Given the description of an element on the screen output the (x, y) to click on. 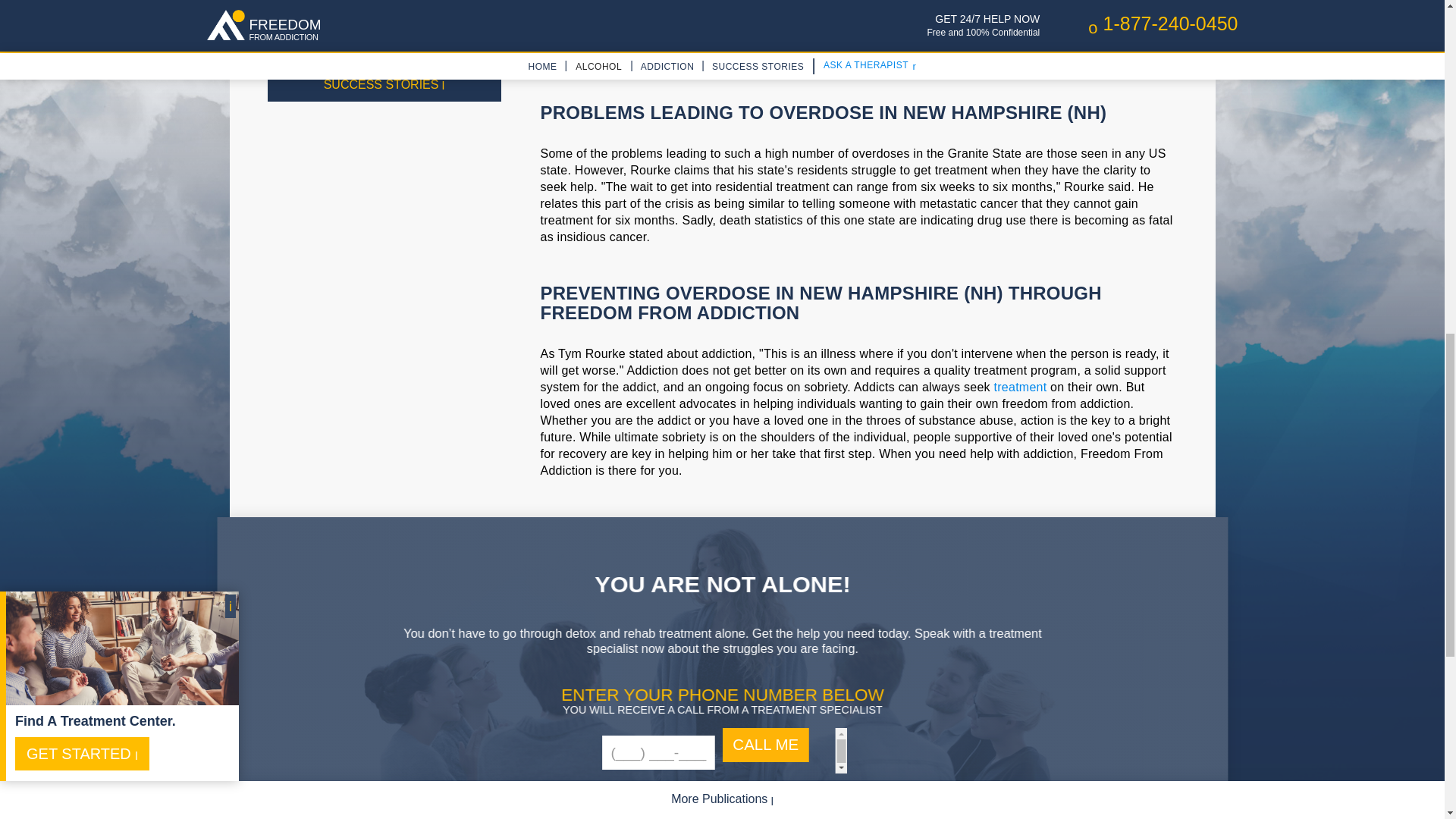
Overcoming addiction is possible. (383, 33)
SUCCESS STORIES l (383, 84)
treatment (1020, 386)
New Futures (1115, 56)
